Given the description of an element on the screen output the (x, y) to click on. 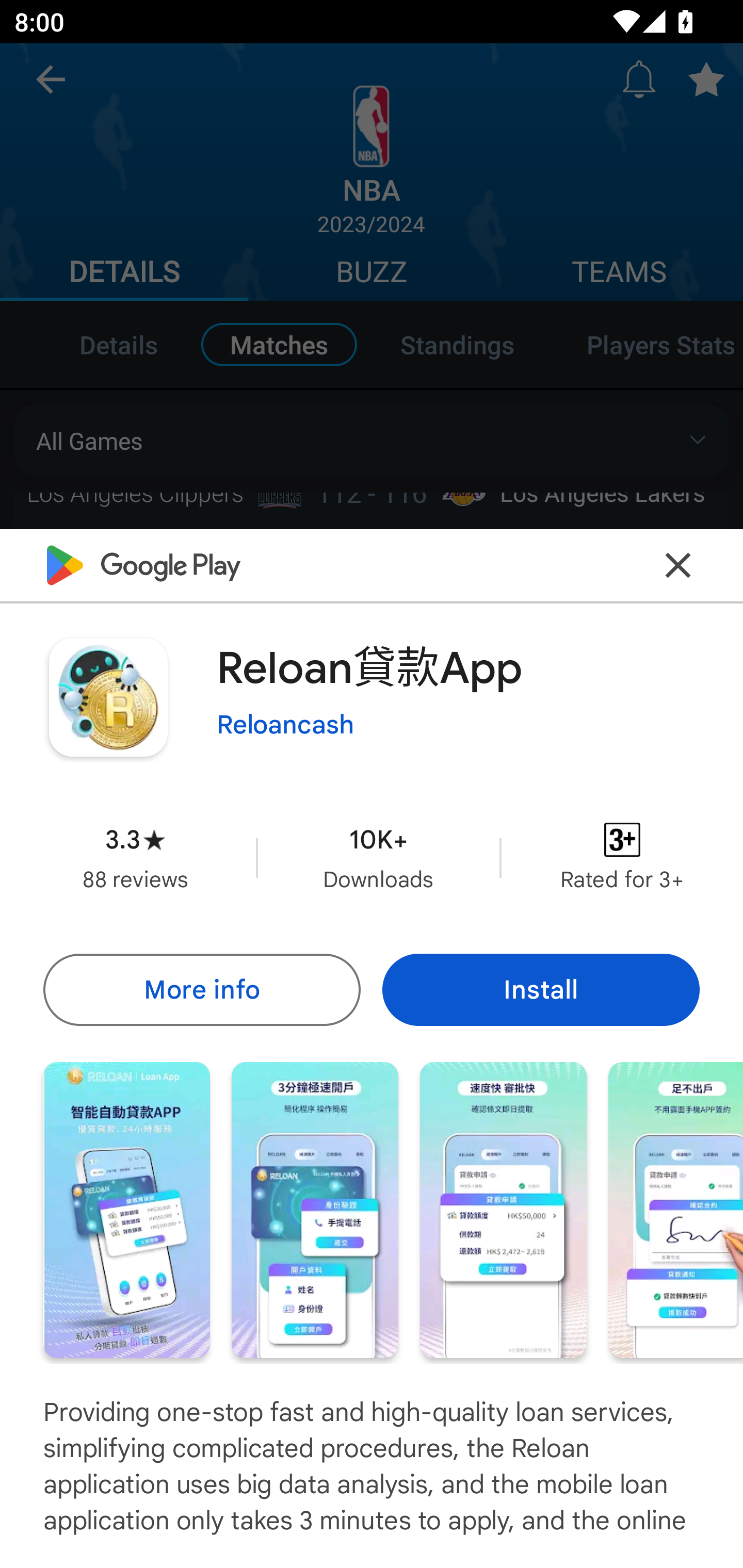
Close (677, 565)
Image of app or game icon for Reloan貸款App (108, 696)
Reloancash (284, 724)
More info (201, 989)
Install (540, 989)
Screenshot "1" of "5" (126, 1209)
Screenshot "2" of "5" (314, 1209)
Screenshot "3" of "5" (502, 1209)
Screenshot "4" of "5" (675, 1209)
